Given the description of an element on the screen output the (x, y) to click on. 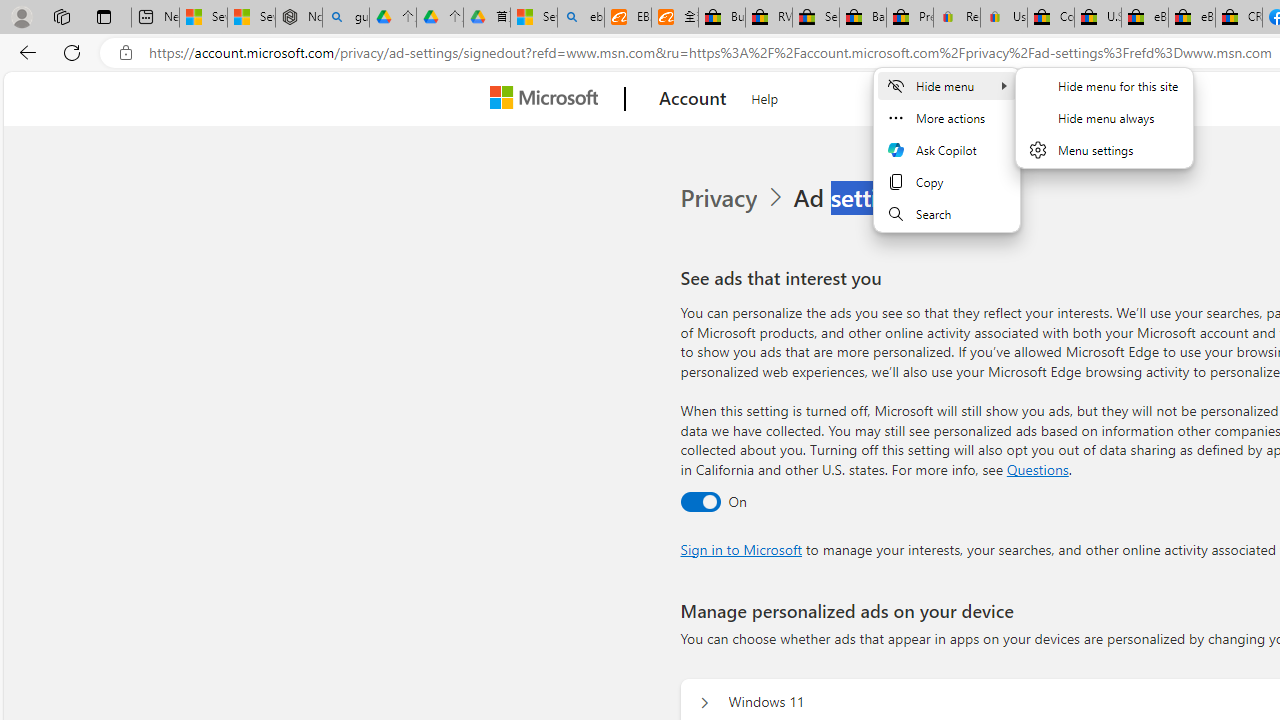
U.S. State Privacy Disclosures - eBay Inc. (1098, 17)
eBay Inc. Reports Third Quarter 2023 Results (1191, 17)
Copy (947, 182)
guge yunpan - Search (345, 17)
Ad settings (858, 197)
Ad settings toggle (699, 501)
Microsoft (548, 99)
Register: Create a personal eBay account (957, 17)
Manage personalized ads on your device Windows 11 (704, 702)
Buy Auto Parts & Accessories | eBay (721, 17)
Baby Keepsakes & Announcements for sale | eBay (862, 17)
